Given the description of an element on the screen output the (x, y) to click on. 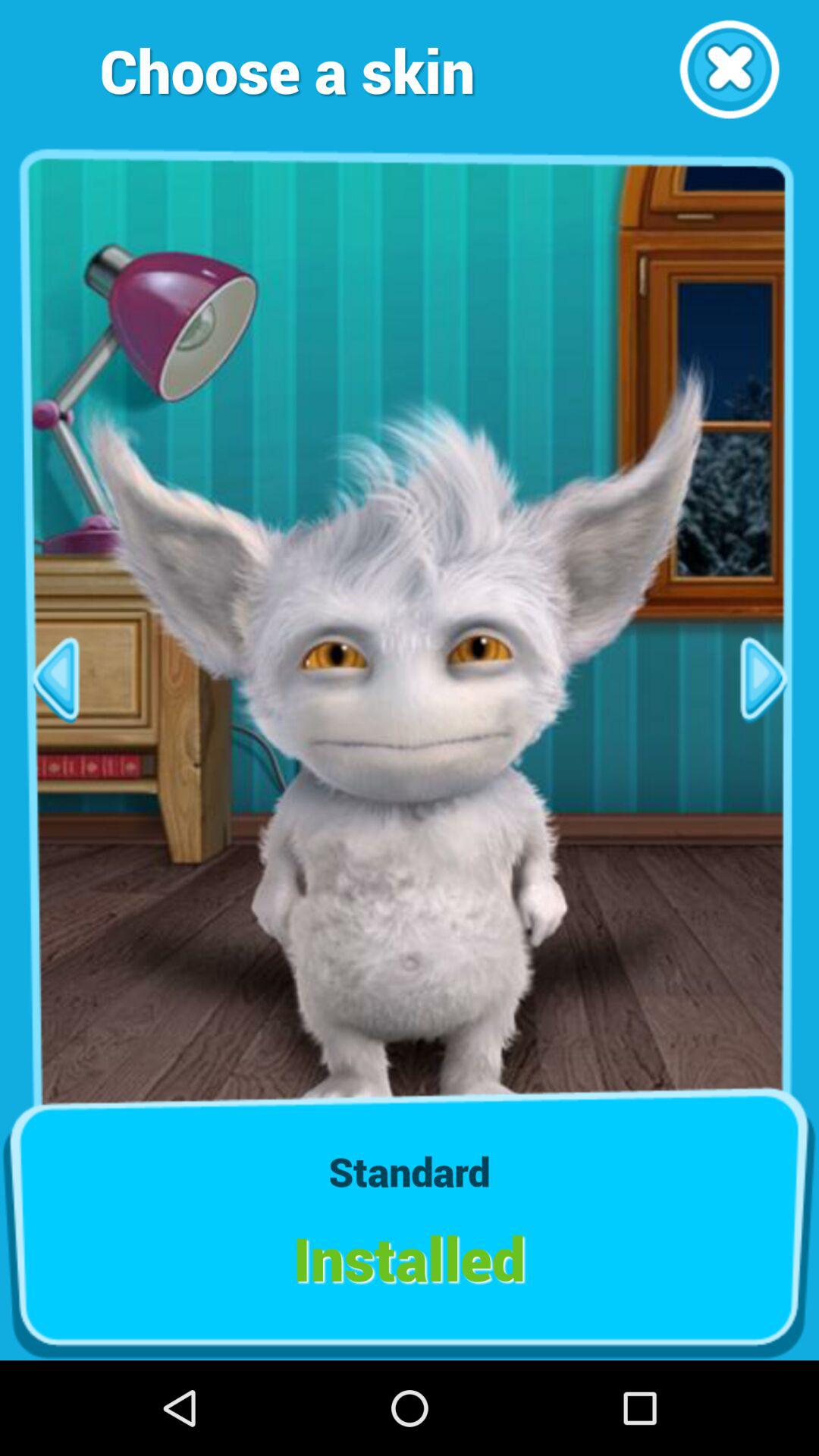
close (729, 69)
